Given the description of an element on the screen output the (x, y) to click on. 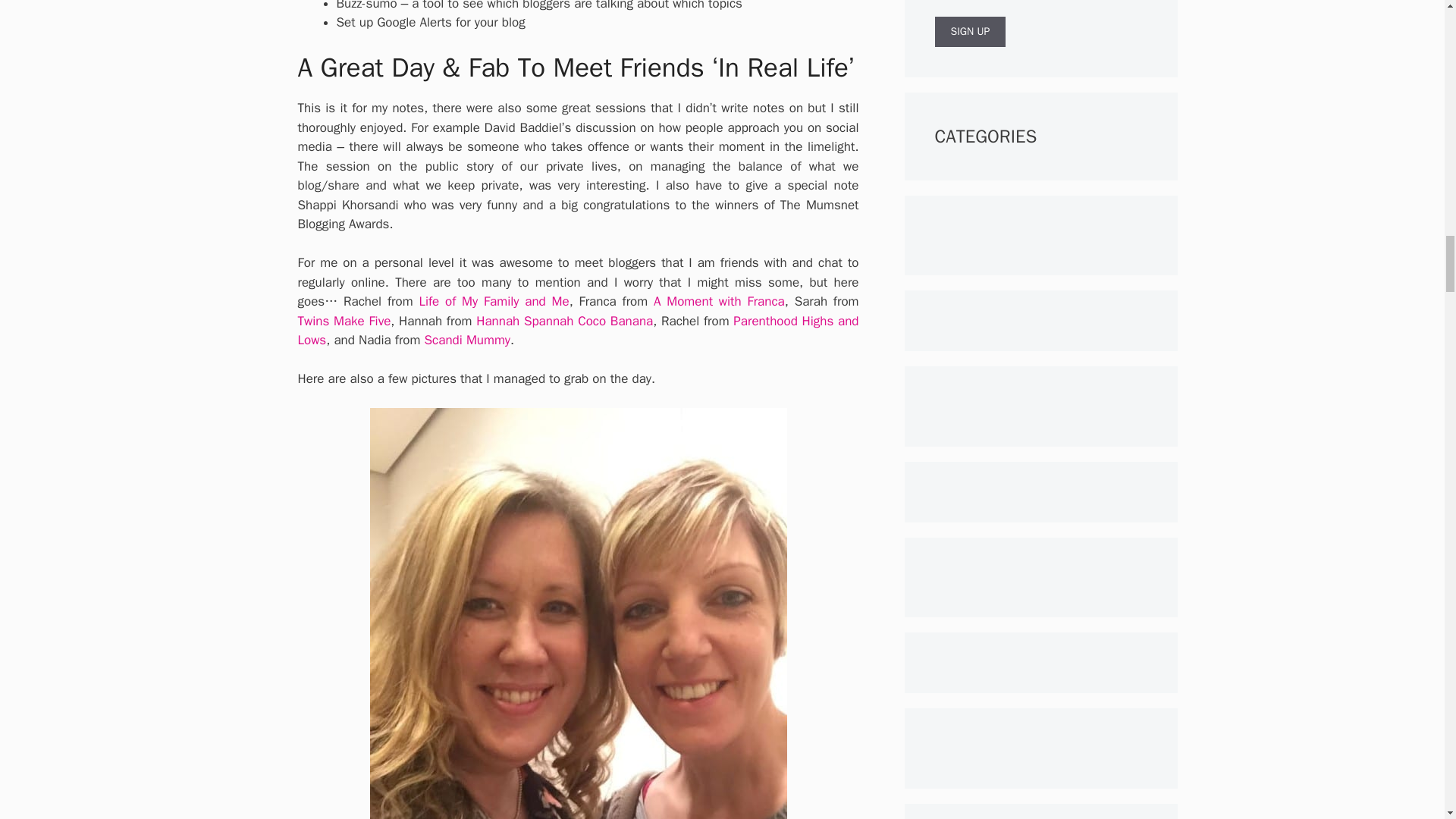
A Moment with Franca (718, 301)
Twins Make Five (343, 320)
Parenthood Highs and Lows (578, 330)
Hannah Spannah Coco Banana (564, 320)
Sign up (970, 31)
Life of My Family and Me (494, 301)
Scandi Mummy (468, 340)
